Given the description of an element on the screen output the (x, y) to click on. 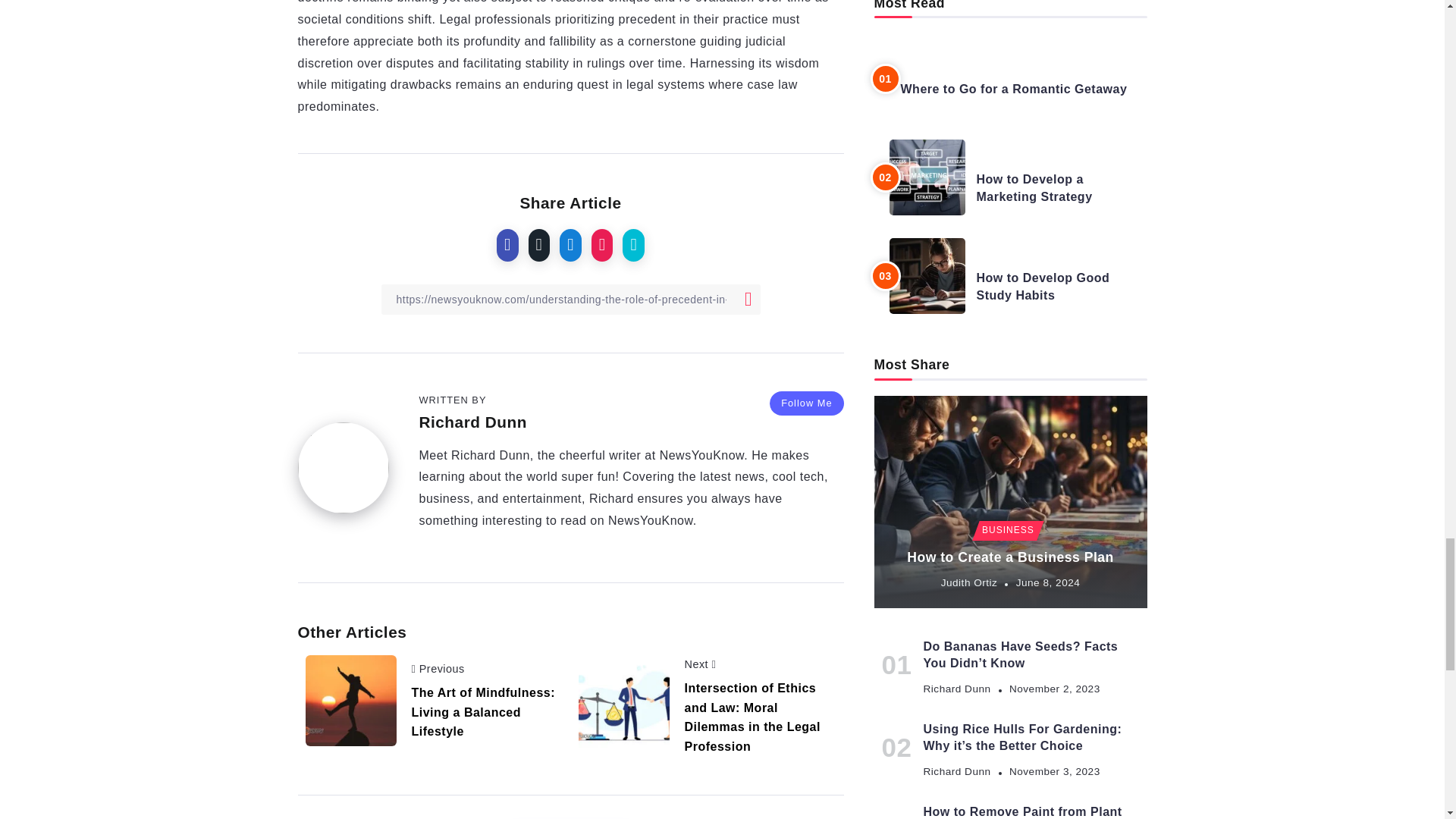
Understanding the Role of Precedent in Common Law Systems (623, 705)
Understanding the Role of Precedent in Common Law Systems (350, 700)
